Given the description of an element on the screen output the (x, y) to click on. 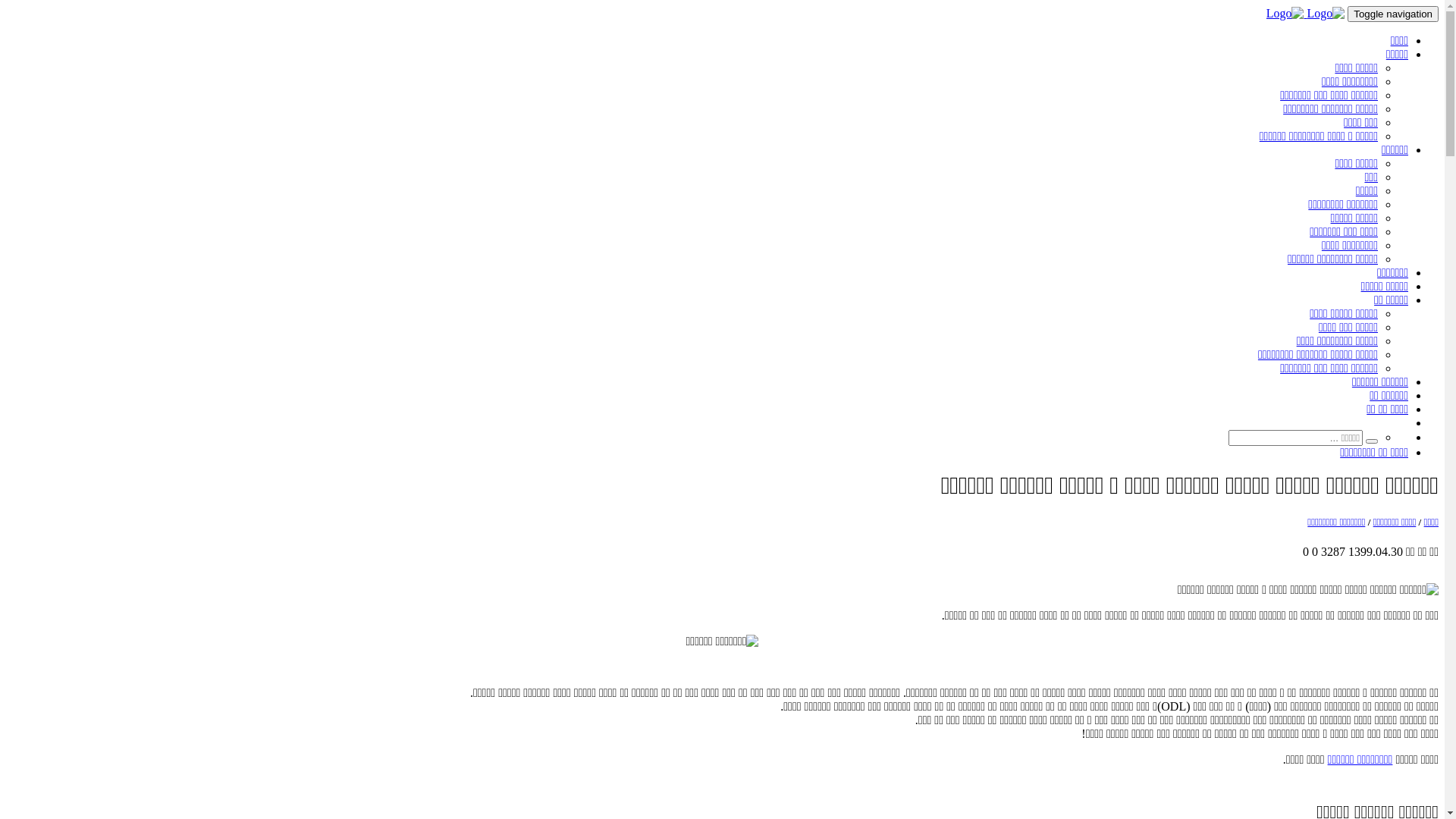
Toggle navigation Element type: text (1392, 13)
